Given the description of an element on the screen output the (x, y) to click on. 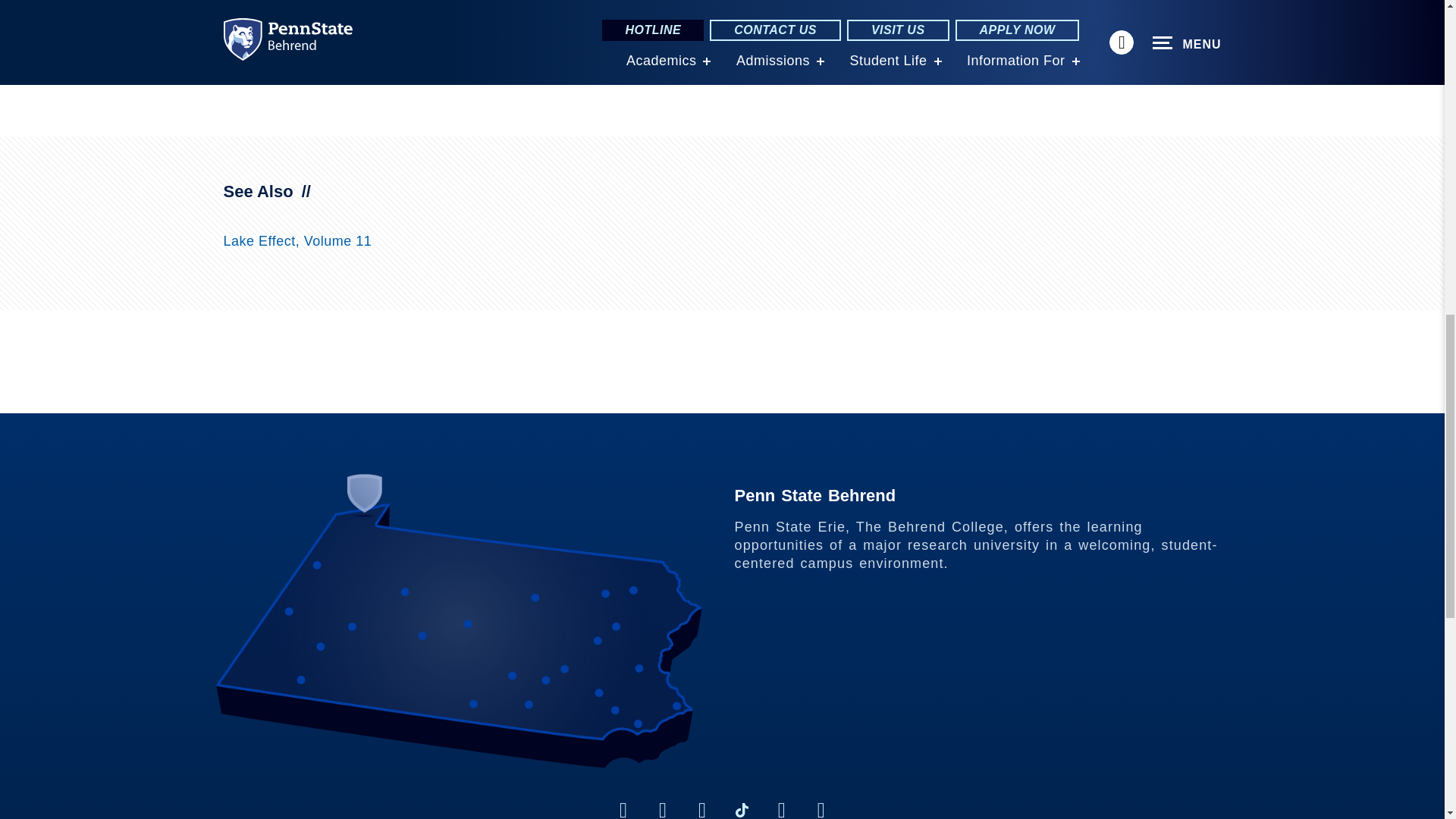
LinkedIn (702, 808)
Instagram (662, 808)
TikTok (741, 808)
YouTube (820, 808)
Facebook (622, 808)
